Given the description of an element on the screen output the (x, y) to click on. 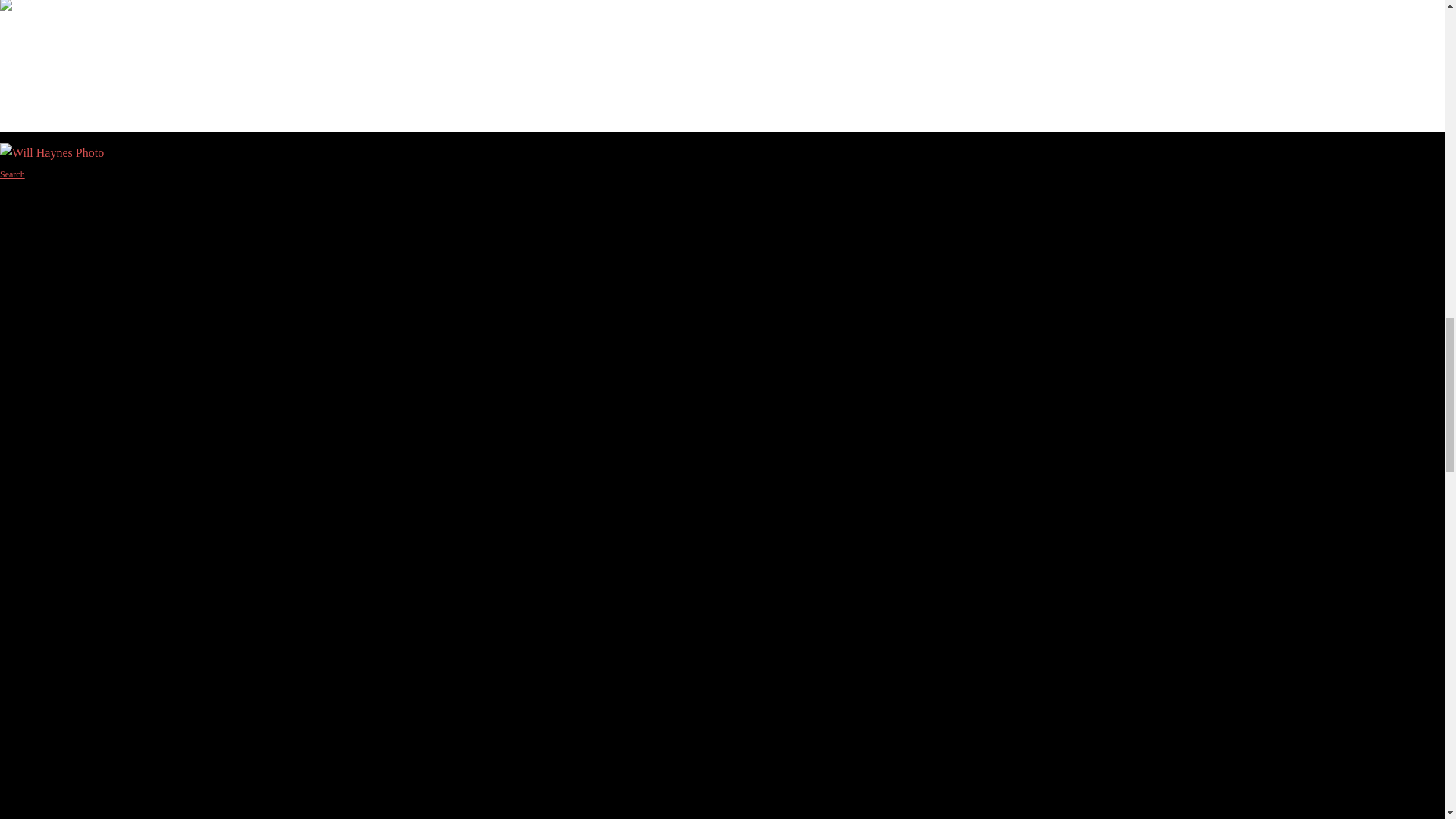
Write (45, 85)
Home (47, 62)
Will Haynes Photo (51, 152)
Will Haynes Photo (51, 7)
Testimonials (65, 108)
Close menu (34, 28)
